Given the description of an element on the screen output the (x, y) to click on. 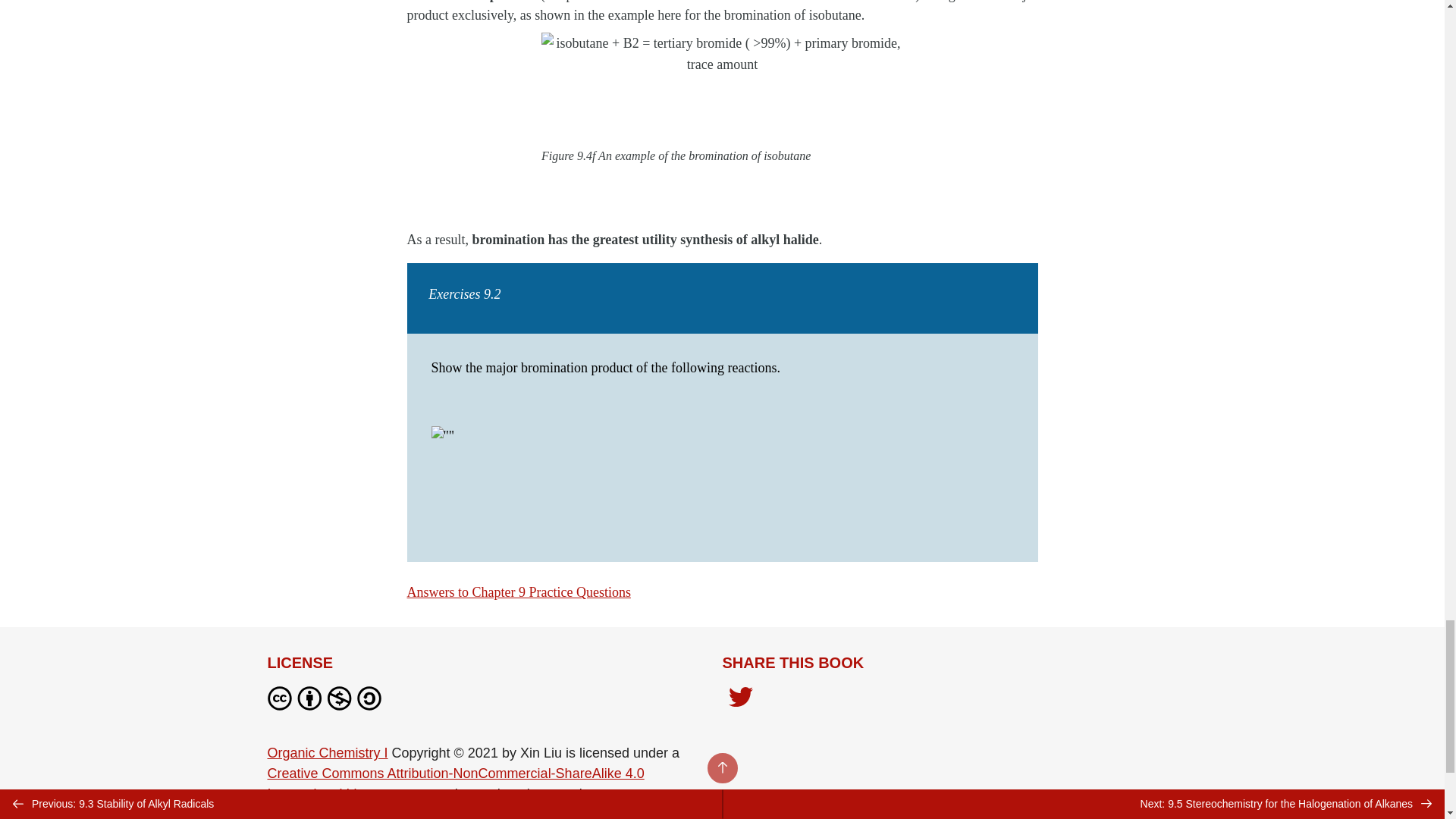
Organic Chemistry I (326, 752)
Share on Twitter (740, 698)
Answers to Chapter 9 Practice Questions (518, 591)
Share on Twitter (740, 700)
